Given the description of an element on the screen output the (x, y) to click on. 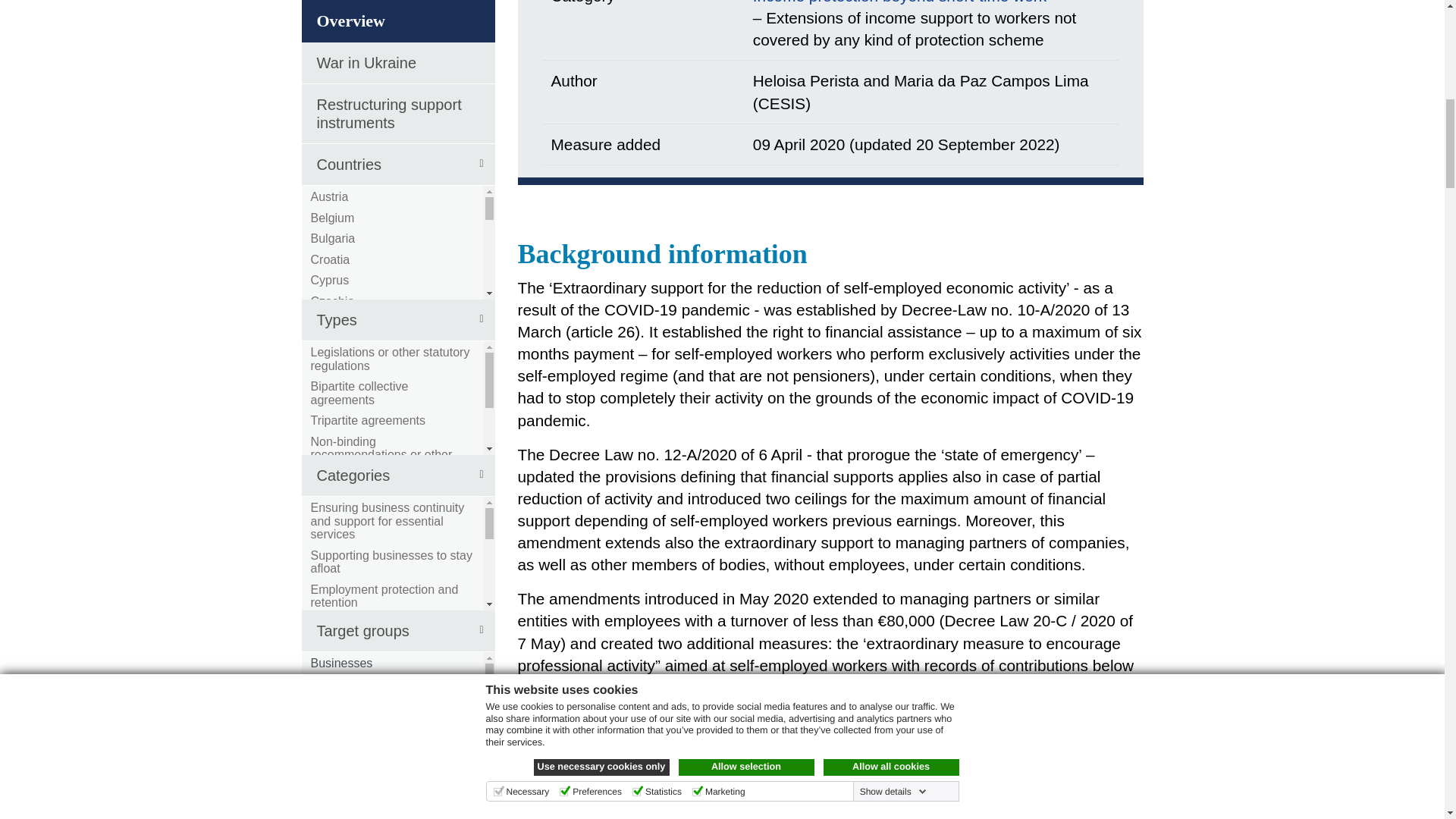
Target groups (398, 122)
